Given the description of an element on the screen output the (x, y) to click on. 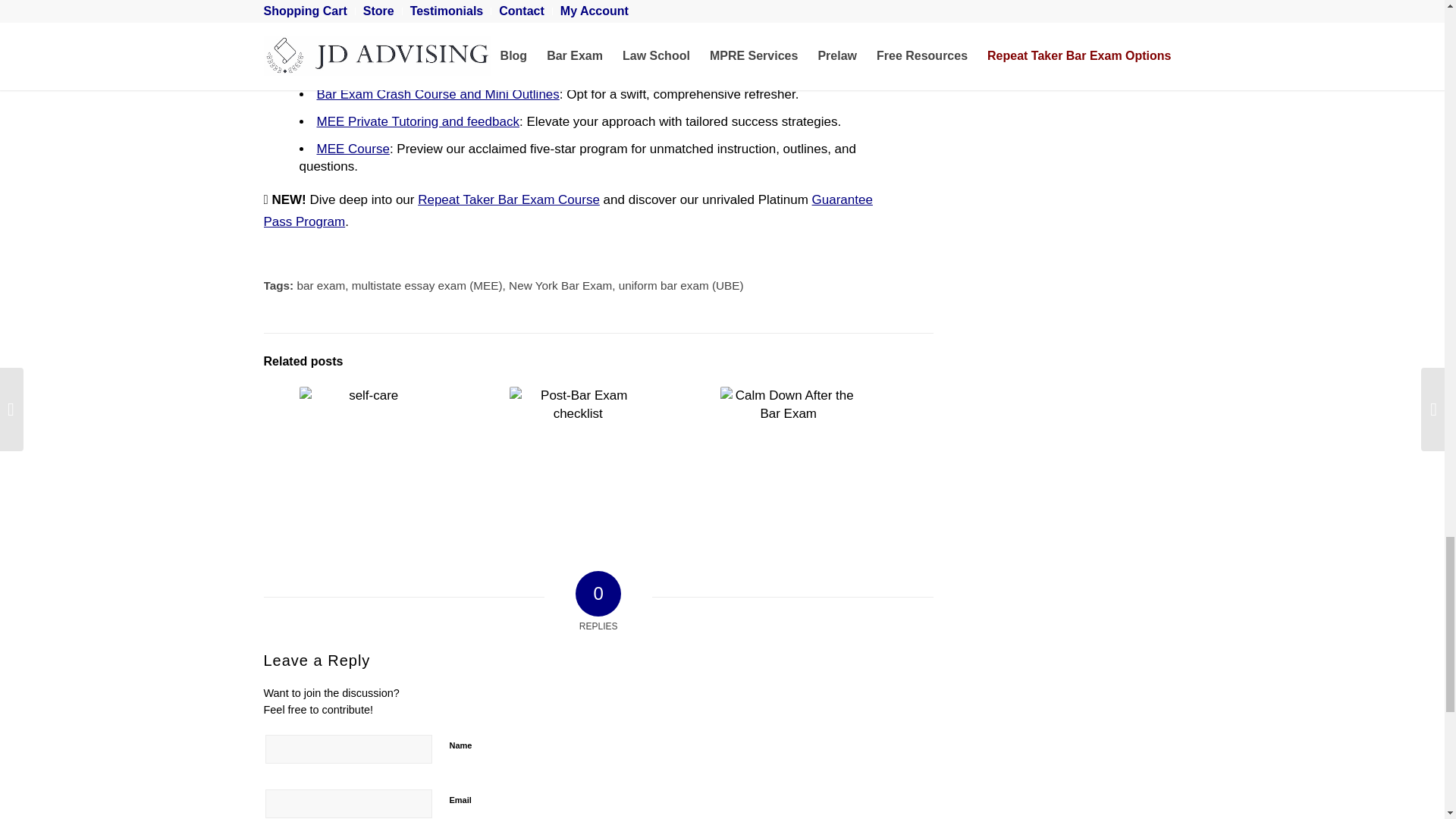
Post-bar exam checklist (577, 454)
Preparing for the Next Steps: Post-Bar Exam Checklist (577, 454)
Self-Care During Stressful Times: Strategies for Bar Takers (367, 454)
Calm Down After the Bar Exam (788, 454)
How to Calm Down After the Bar Exam (787, 454)
Self-care (367, 454)
